Given the description of an element on the screen output the (x, y) to click on. 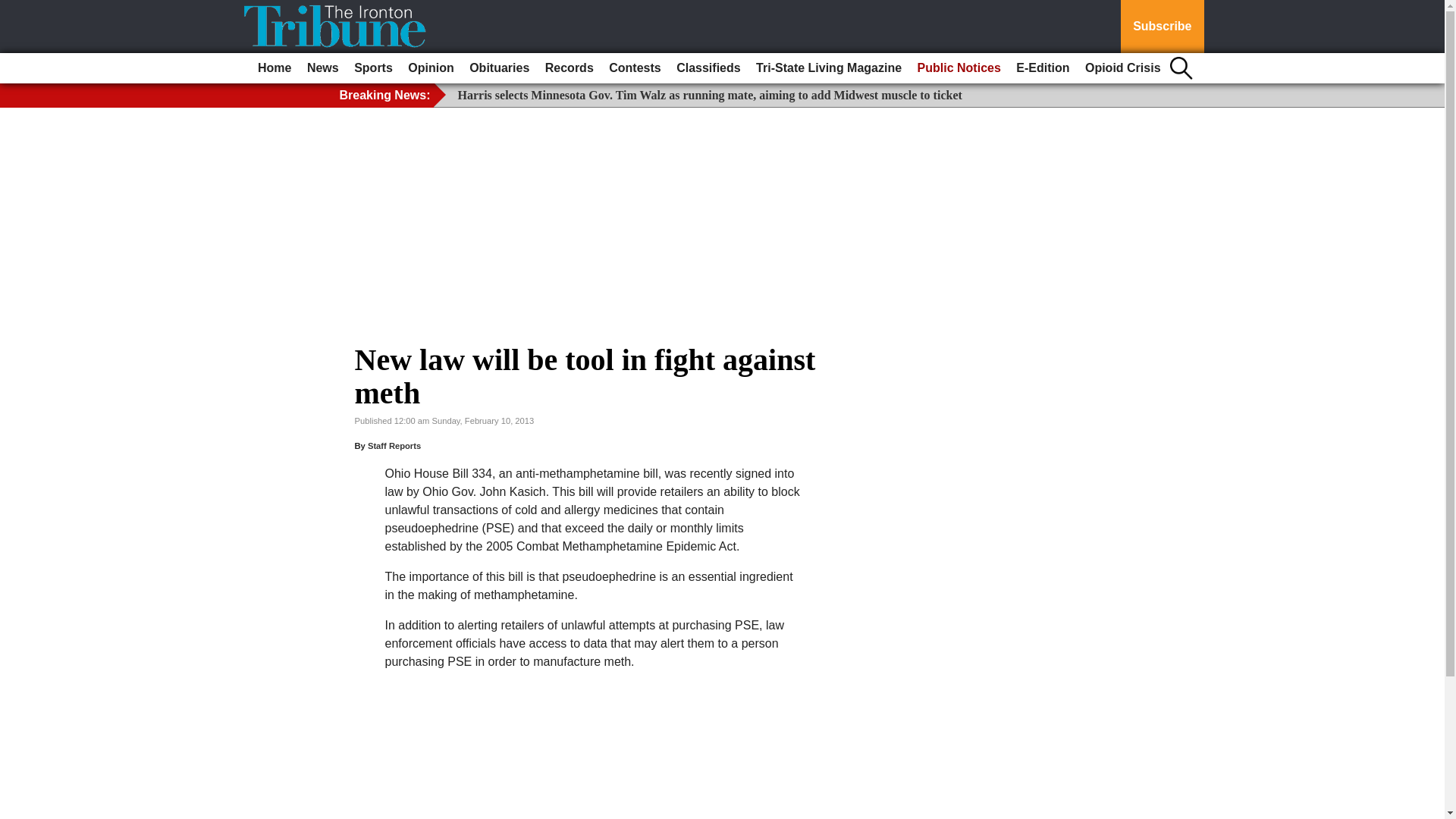
Records (568, 68)
E-Edition (1042, 68)
Contests (634, 68)
Opinion (430, 68)
Obituaries (499, 68)
Classifieds (707, 68)
News (323, 68)
Sports (372, 68)
Tri-State Living Magazine (828, 68)
Staff Reports (394, 445)
Go (13, 9)
Home (274, 68)
Public Notices (959, 68)
